Given the description of an element on the screen output the (x, y) to click on. 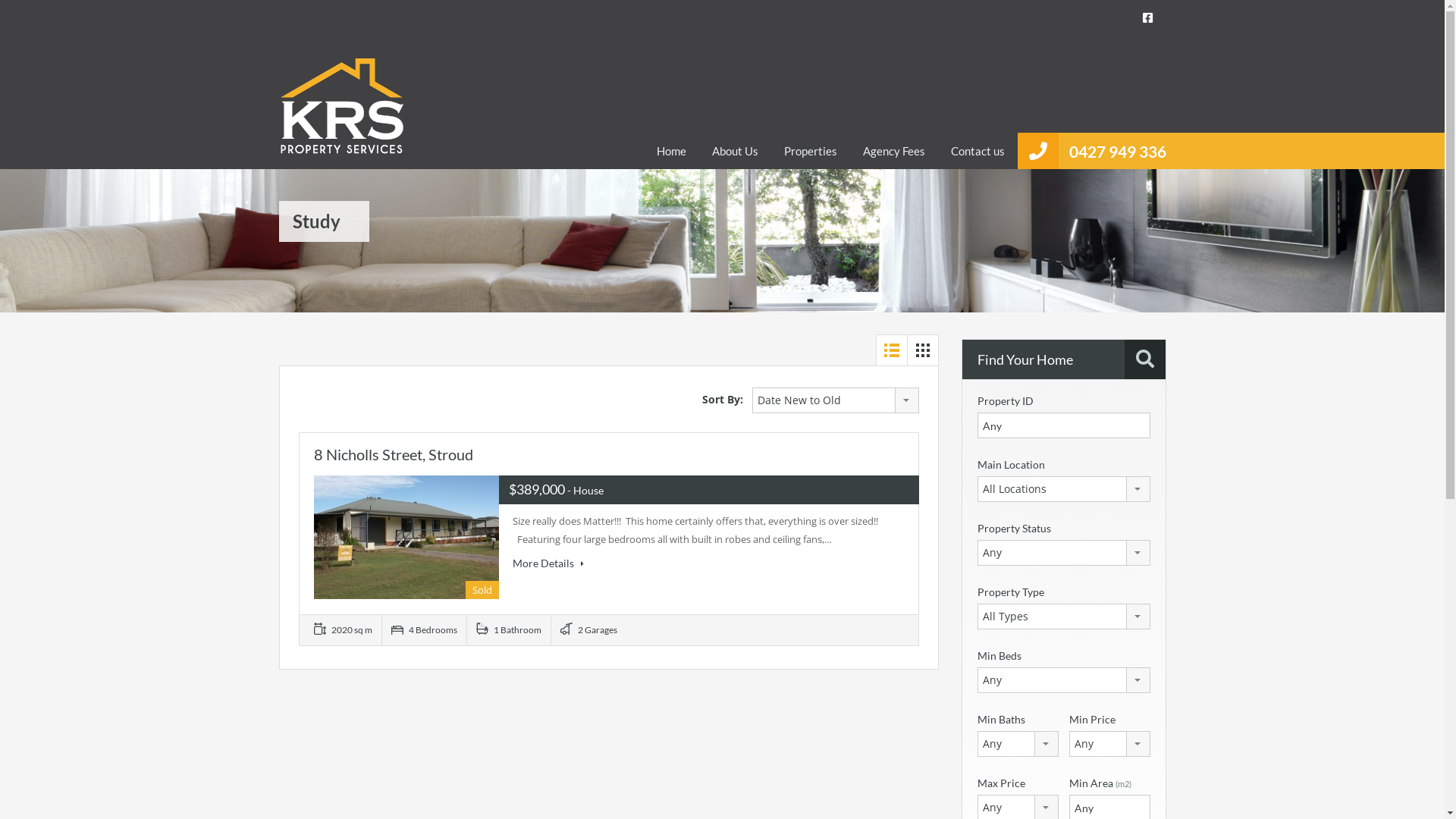
More Details Element type: text (547, 563)
0427 949 336 Element type: text (1117, 151)
All Types Element type: text (1062, 616)
Any Element type: text (1062, 552)
Home Element type: text (670, 150)
Any Element type: text (1016, 743)
All Locations Element type: text (1062, 489)
Any Element type: text (1062, 680)
Agency Fees Element type: text (893, 150)
8 Nicholls Street, Stroud Element type: text (393, 454)
About Us Element type: text (735, 150)
Contact us Element type: text (976, 150)
Properties Element type: text (809, 150)
Any Element type: text (1109, 743)
Date New to Old Element type: text (835, 400)
